Given the description of an element on the screen output the (x, y) to click on. 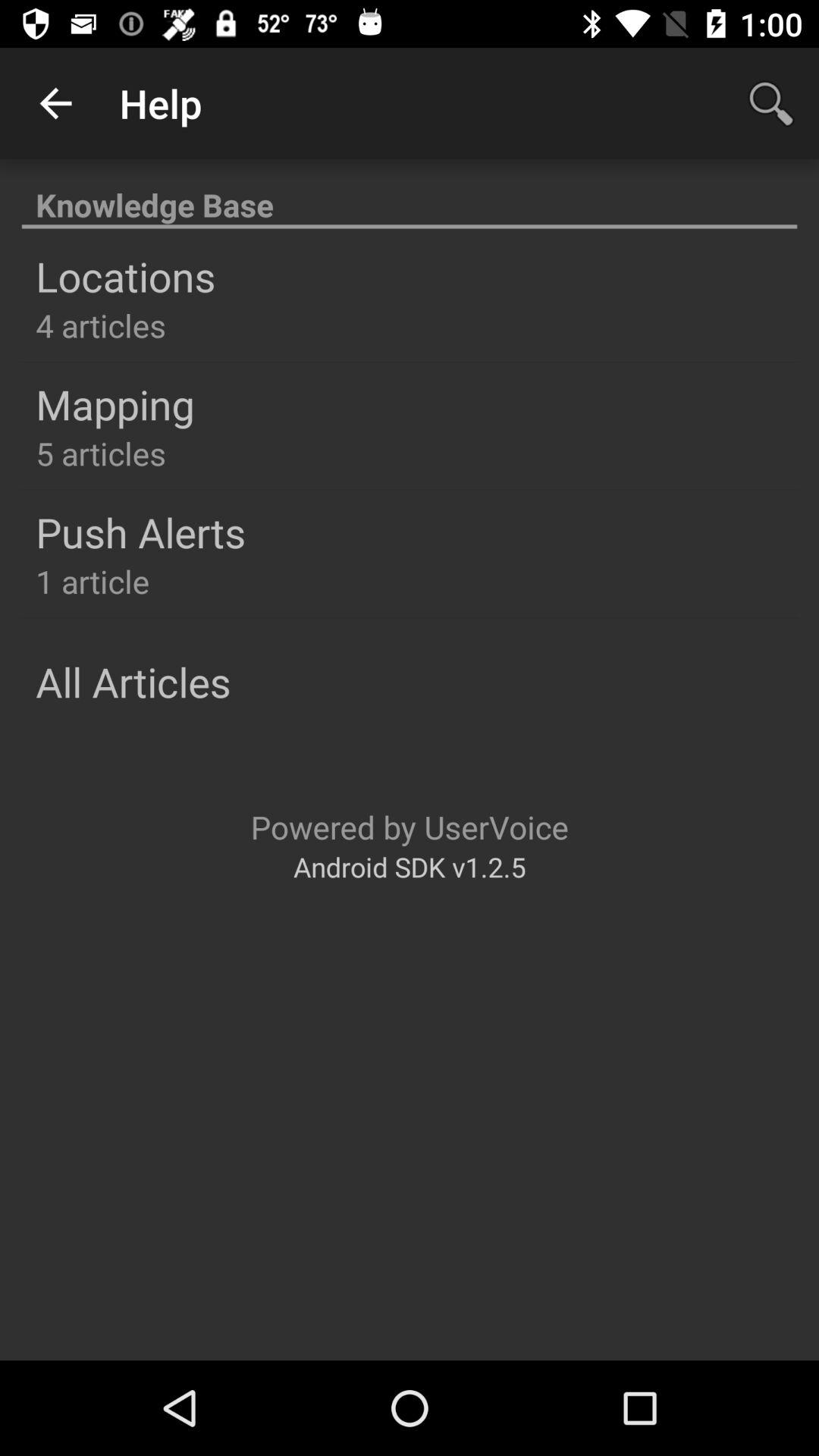
choose the icon below locations icon (100, 324)
